Given the description of an element on the screen output the (x, y) to click on. 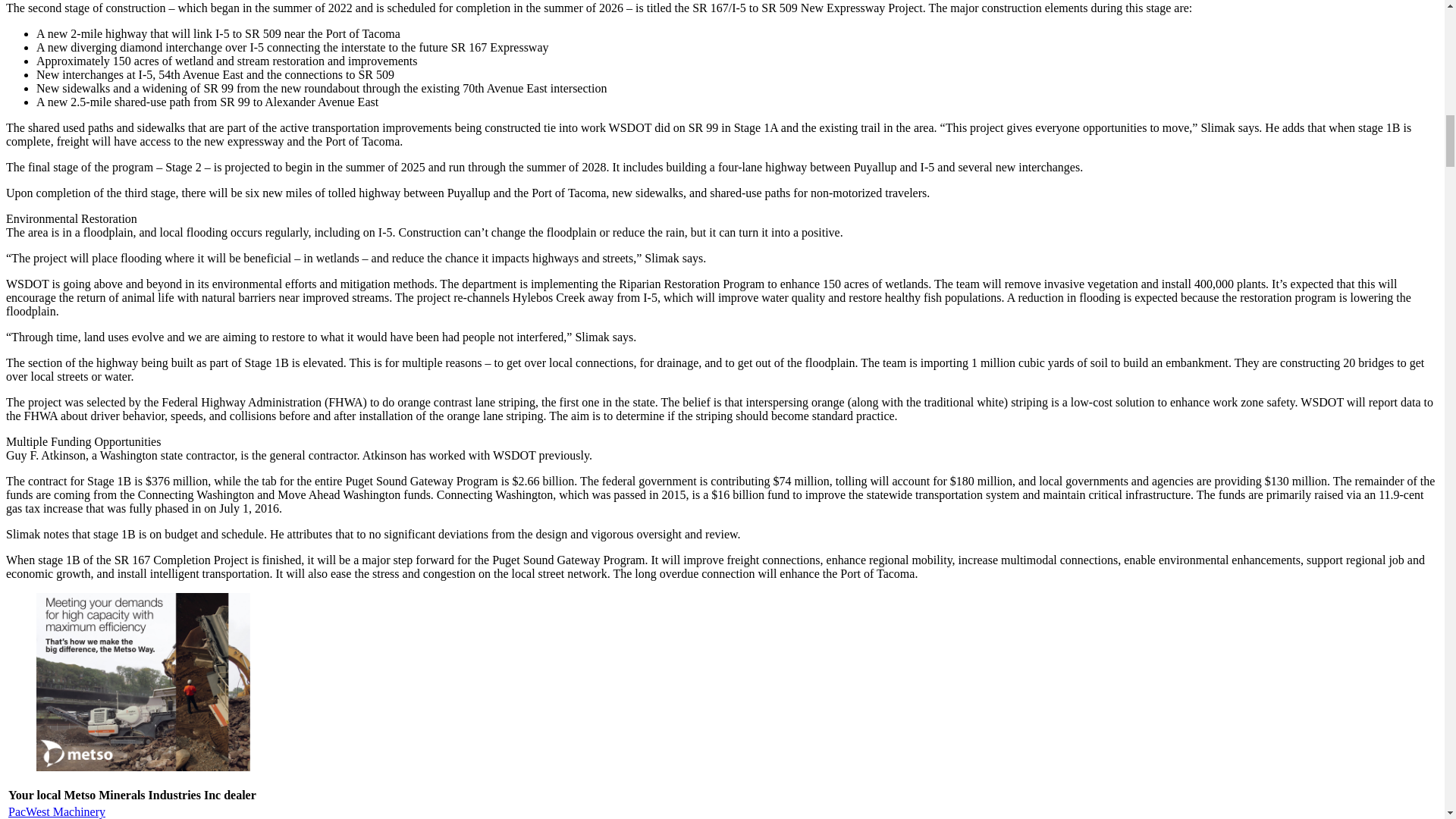
PacWest Machinery (56, 811)
